Given the description of an element on the screen output the (x, y) to click on. 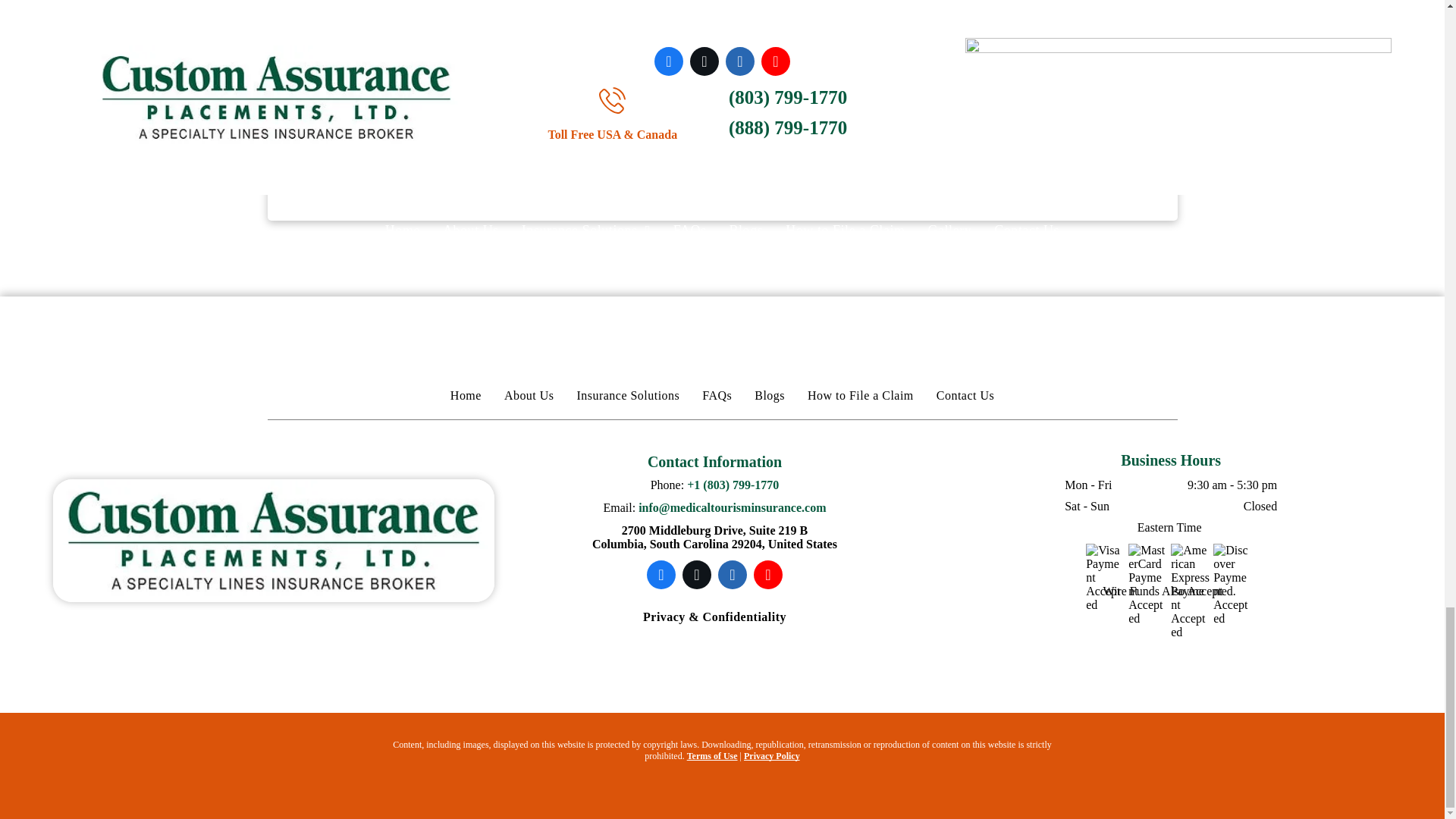
Custom Assurance Placements (273, 540)
